Given the description of an element on the screen output the (x, y) to click on. 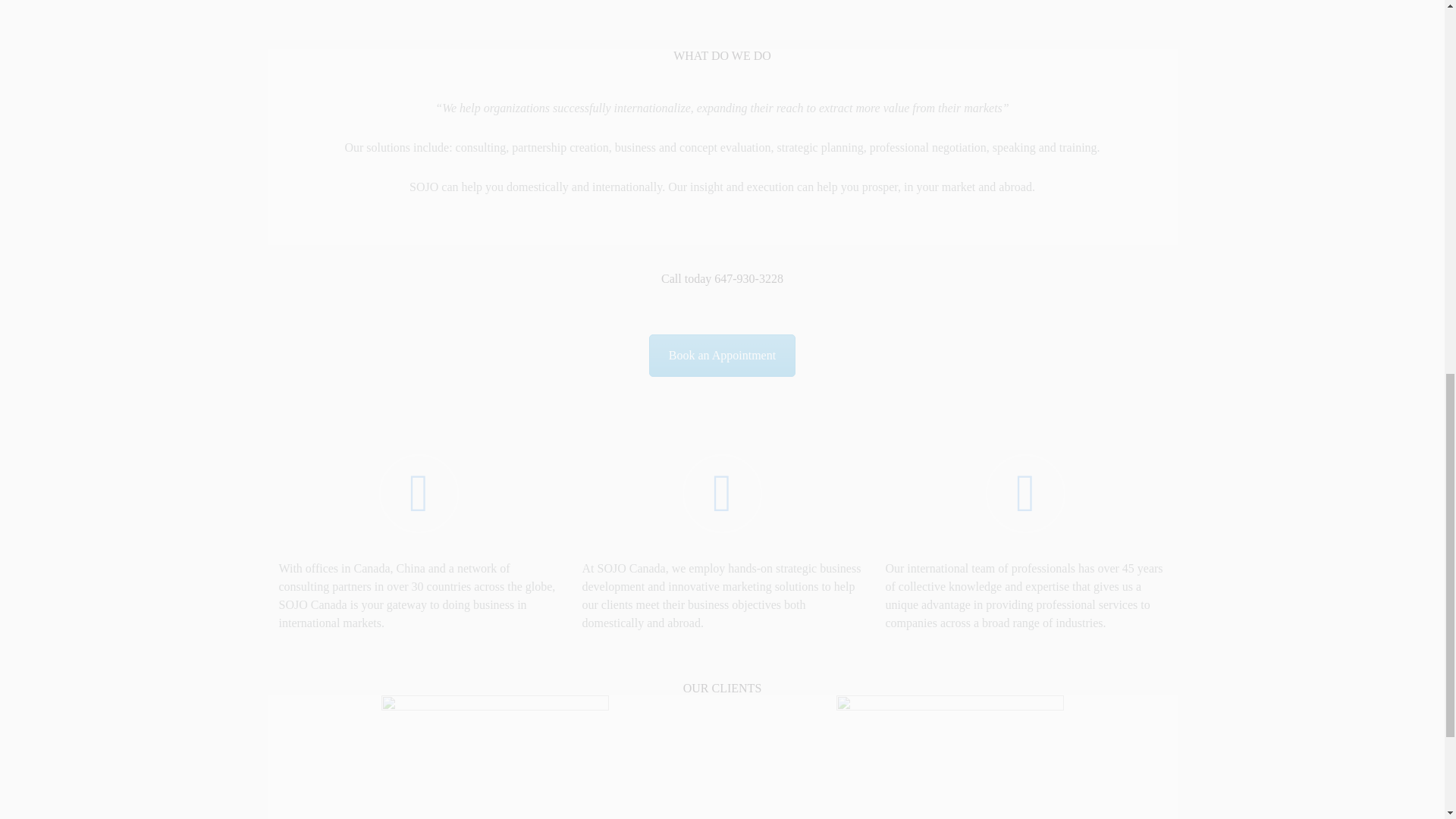
Book an Appointment (721, 355)
Our Services (418, 493)
Contact us (721, 355)
